Given the description of an element on the screen output the (x, y) to click on. 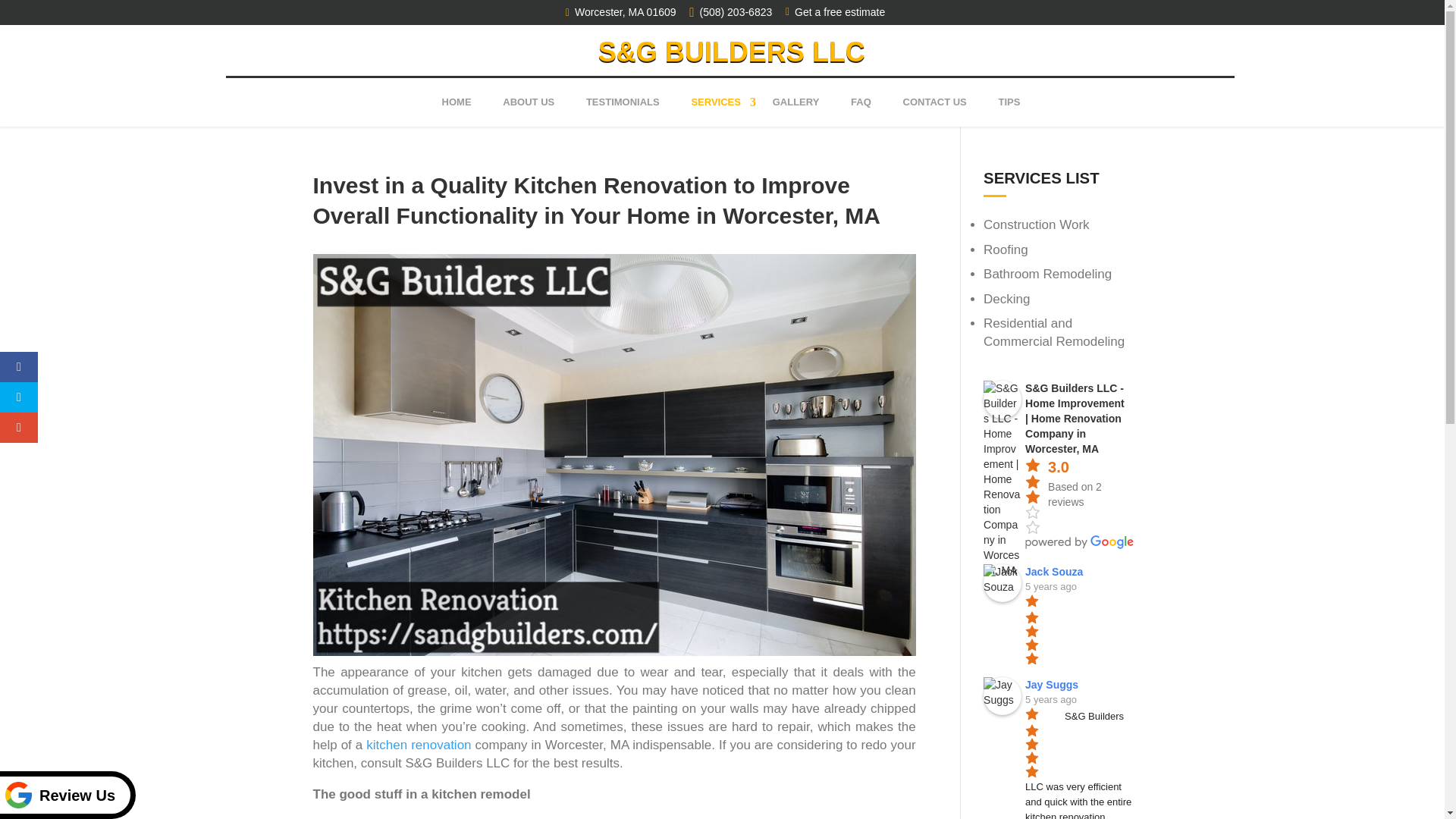
Jack Souza (1003, 582)
powered by Google (1079, 541)
Jay Suggs (1003, 695)
TIPS (1009, 101)
SERVICES (715, 101)
HOME (456, 101)
ABOUT US (528, 101)
FAQ (860, 101)
GALLERY (795, 101)
Get a free estimate (832, 12)
CONTACT US (934, 101)
TESTIMONIALS (622, 101)
